Given the description of an element on the screen output the (x, y) to click on. 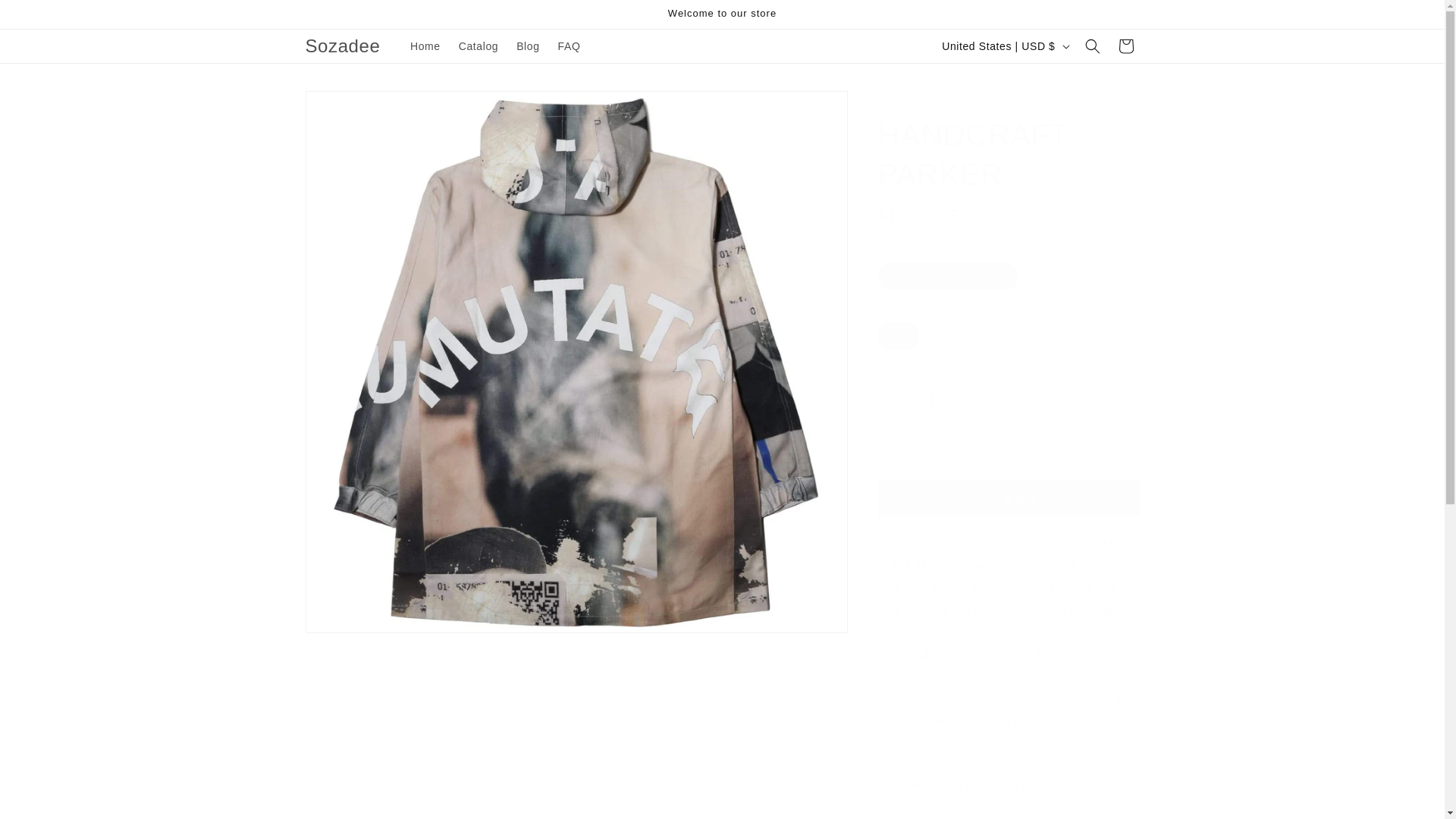
Cart (1124, 46)
Skip to product information (350, 108)
Increase quantity for HANDCRAFT PARKER (967, 399)
Sozadee (342, 46)
Add to cart (1008, 454)
Skip to content (45, 17)
Blog (527, 46)
Home (425, 46)
Decrease quantity for HANDCRAFT PARKER (894, 399)
Buy it now (1008, 497)
Catalog (477, 46)
FAQ (568, 46)
